Given the description of an element on the screen output the (x, y) to click on. 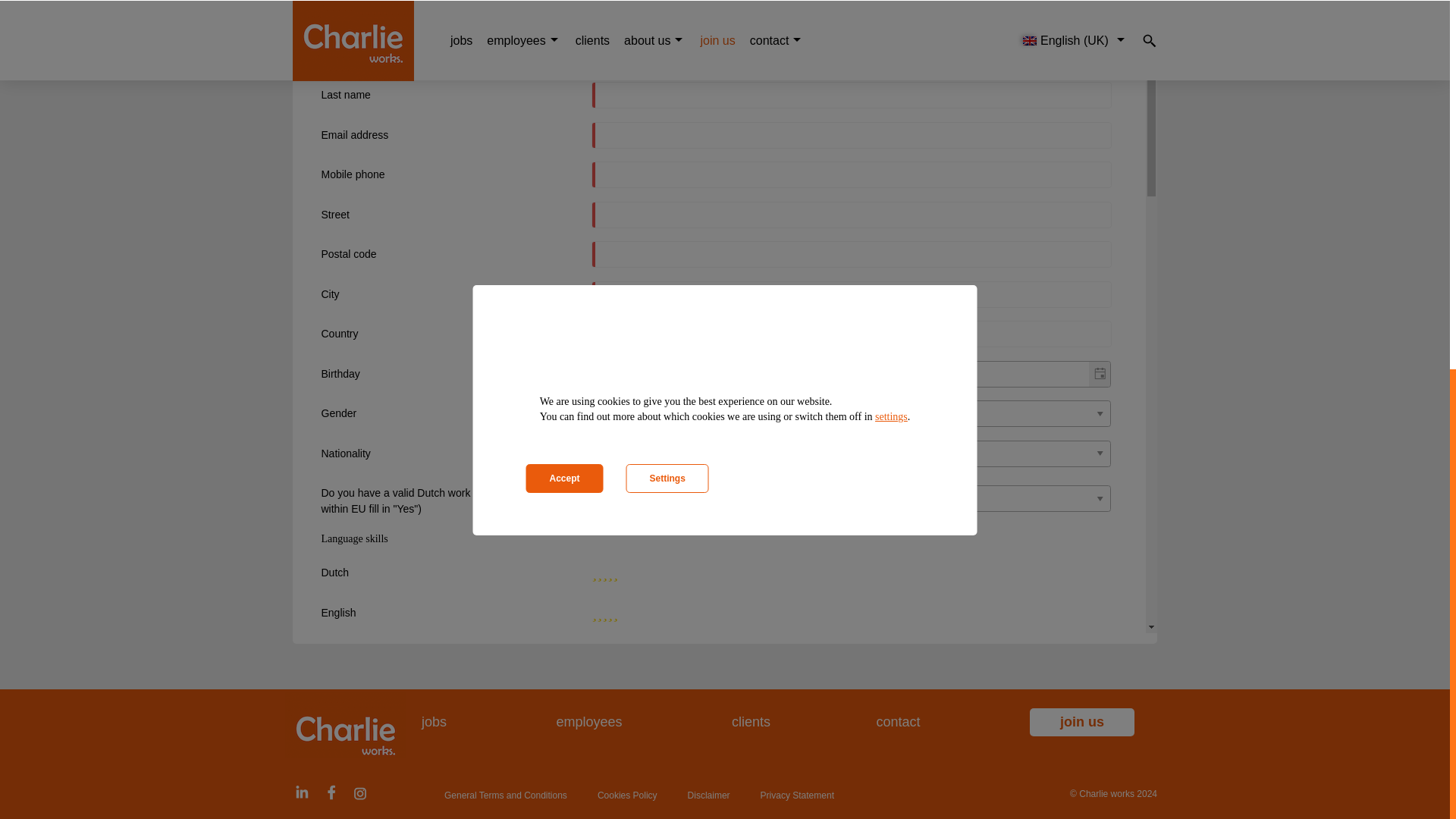
Cookies Policy (627, 795)
Privacy Statement (797, 795)
clients (751, 721)
employees (588, 721)
Disclaimer (708, 795)
join us (1081, 722)
contact (898, 721)
General Terms and Conditions (505, 795)
jobs (434, 721)
